Given the description of an element on the screen output the (x, y) to click on. 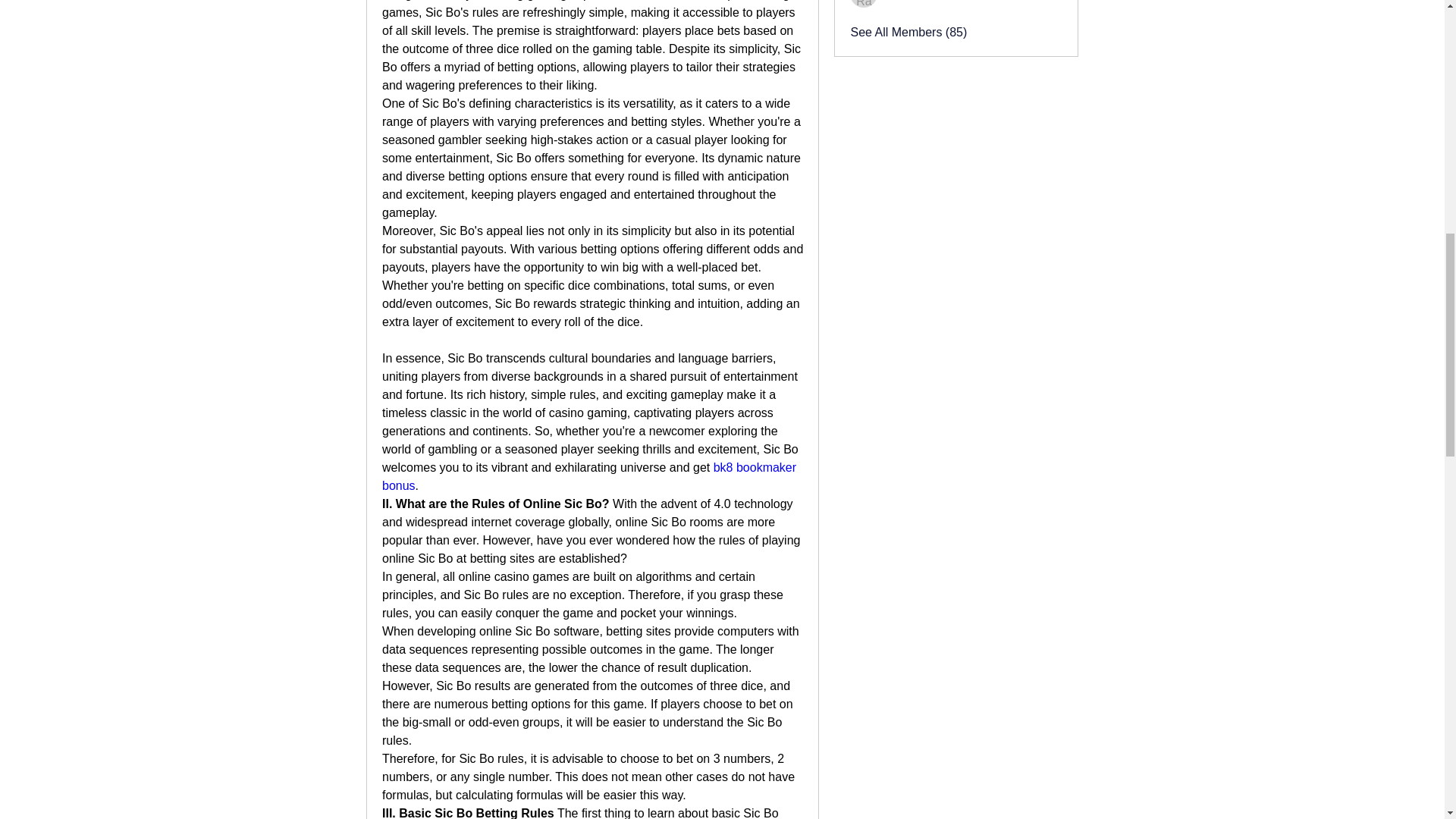
bk8 bookmaker bonus (590, 476)
Ra He (863, 3)
